Given the description of an element on the screen output the (x, y) to click on. 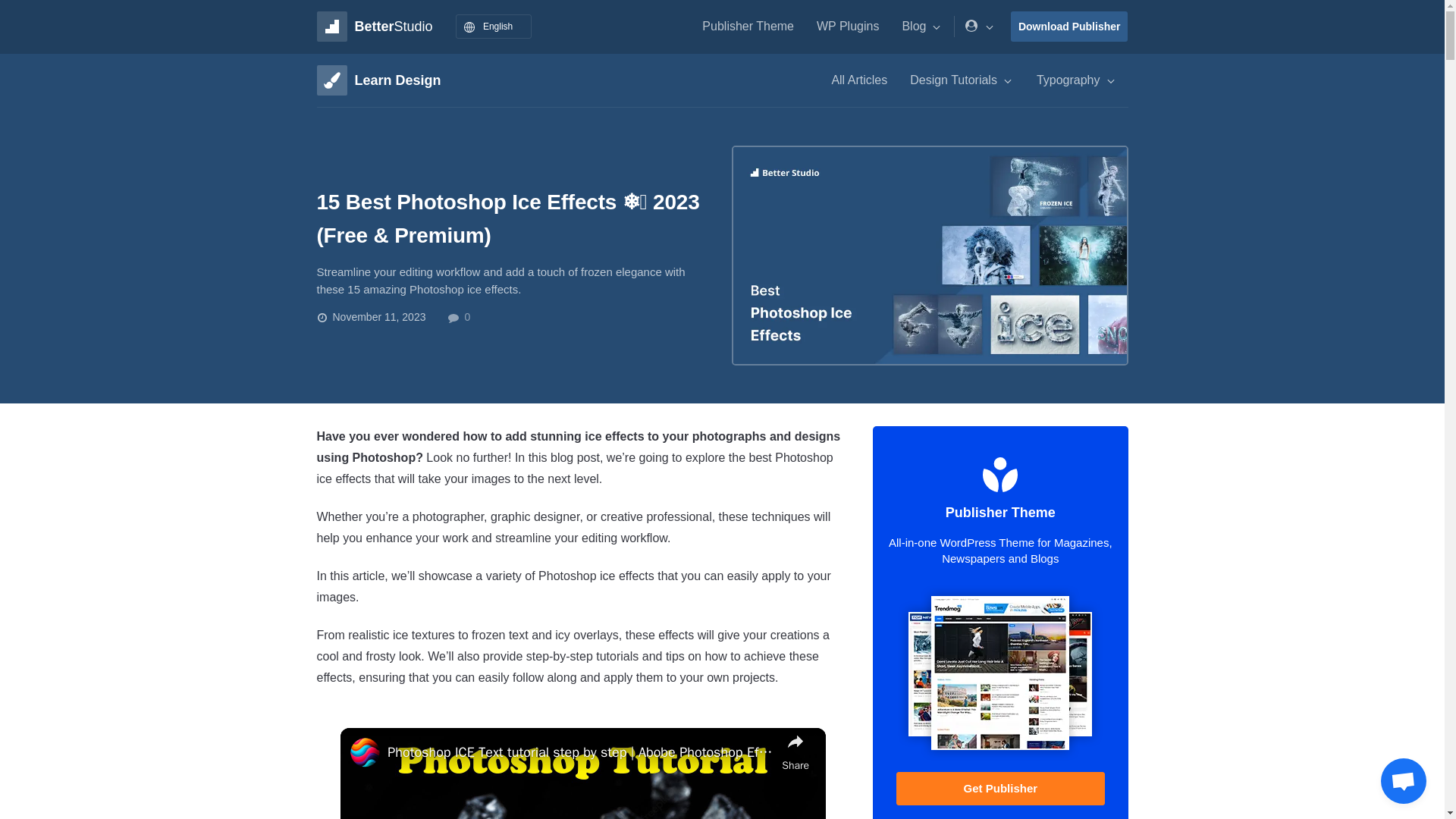
Download Publisher (1069, 26)
WP Plugins (847, 25)
Blog (921, 25)
Publisher Theme (747, 25)
BetterStudio (374, 26)
